Given the description of an element on the screen output the (x, y) to click on. 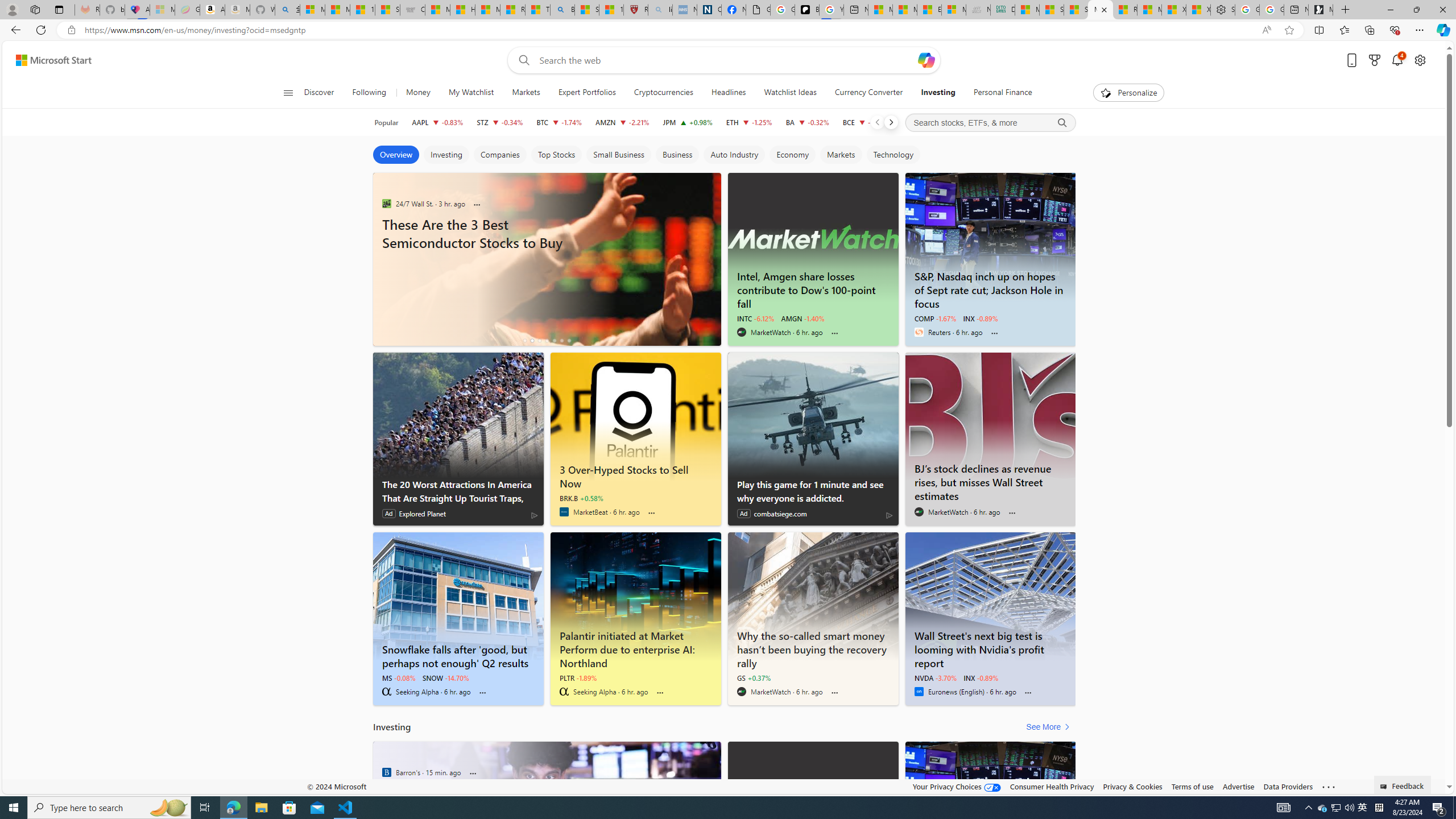
Cryptocurrencies (662, 92)
Class: oneFooter_seeMore-DS-EntryPoint1-1 (1328, 786)
Popular (386, 121)
My Watchlist (471, 92)
Investing (937, 92)
Barron's (386, 772)
